Given the description of an element on the screen output the (x, y) to click on. 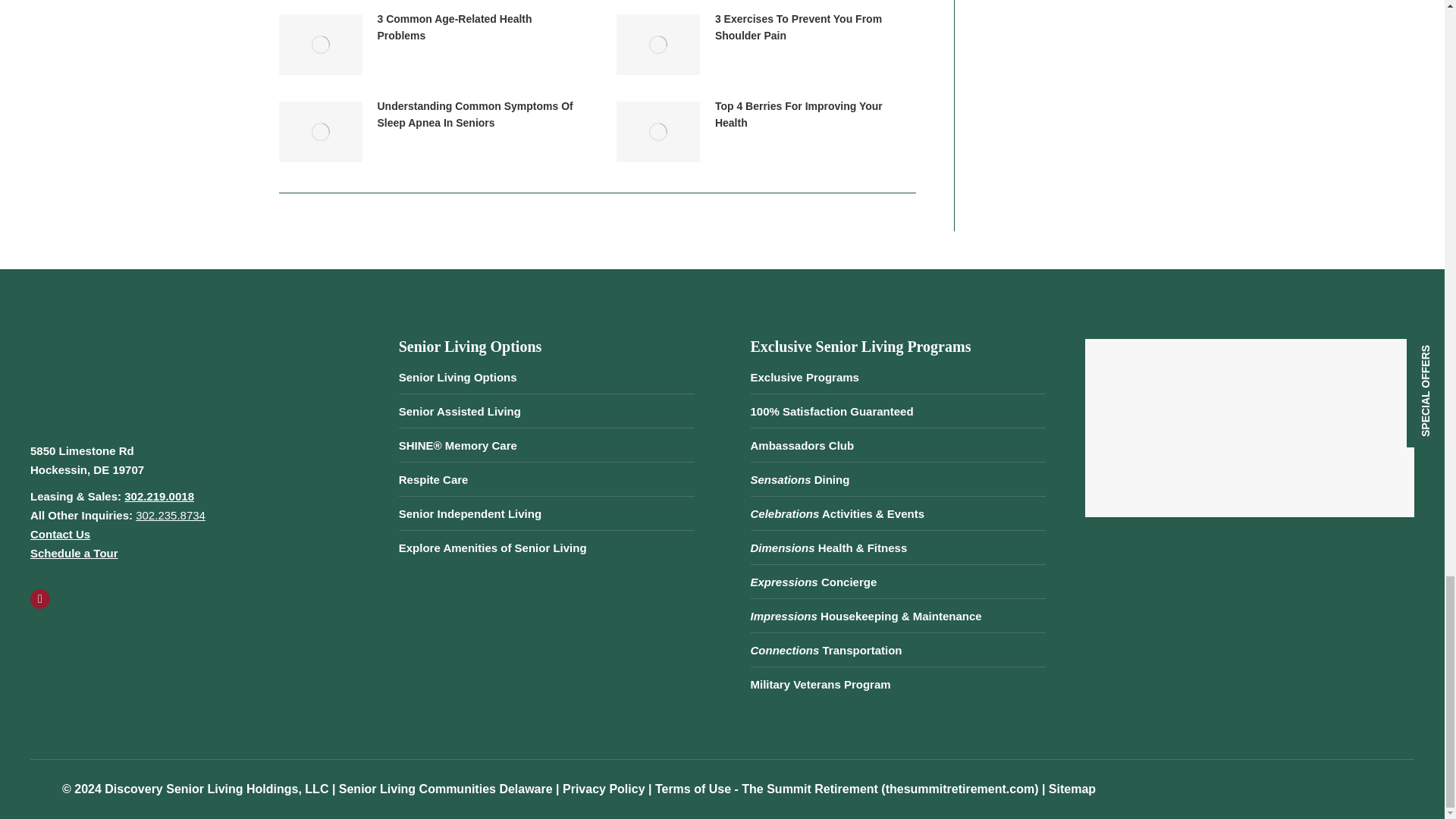
Equal-Housing-Opportunity-logo222 (77, 653)
Equal-Housing-Opportunity-logo22-150x144-1 (195, 654)
Facebook (39, 598)
the-sumit-footer-logo (100, 376)
